Given the description of an element on the screen output the (x, y) to click on. 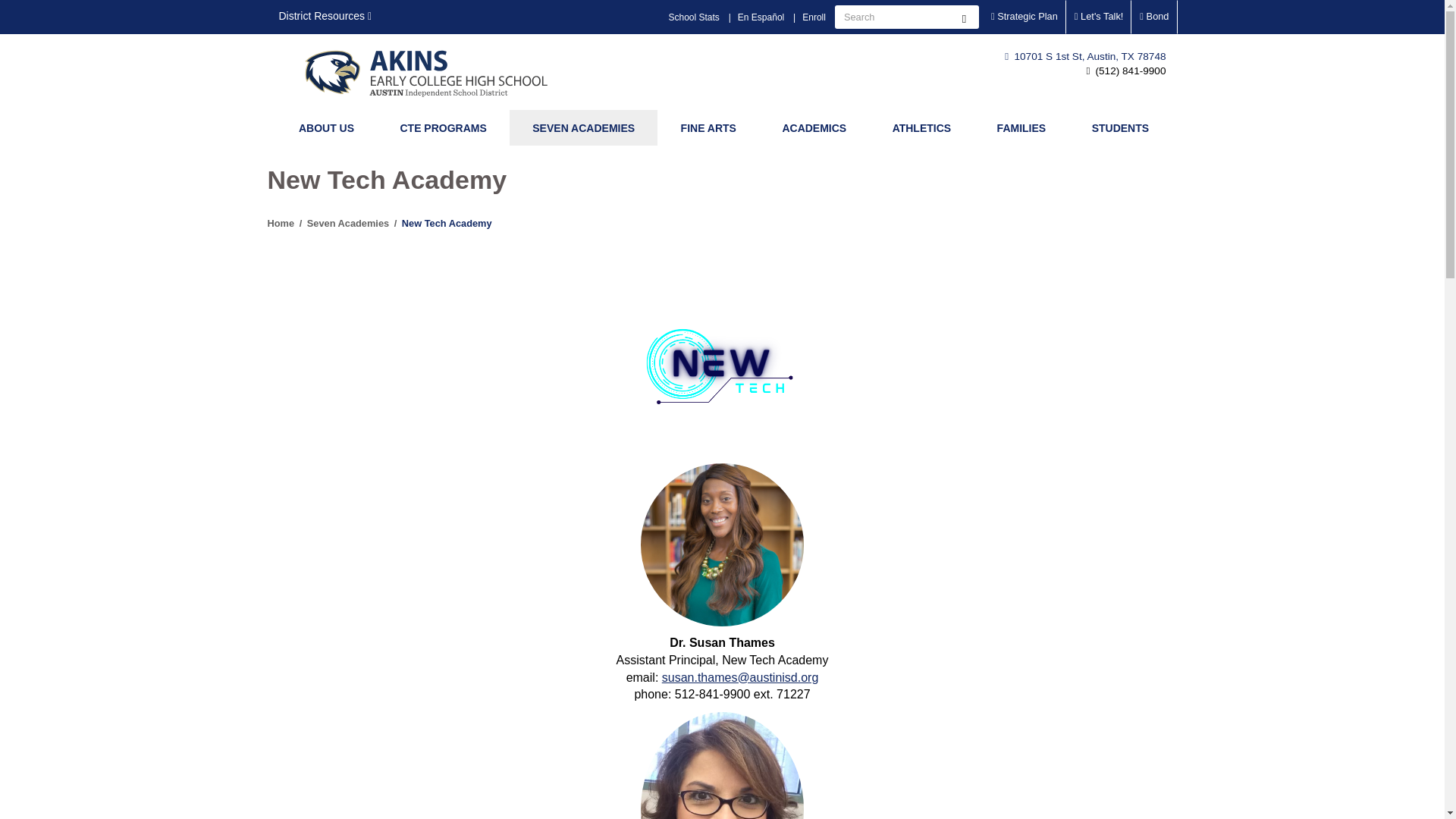
District Resources (324, 17)
Home (437, 72)
Akins Early College High School (437, 72)
Enroll (813, 17)
  10701 S 1st St, Austin, TX 78748 (1085, 56)
ABOUT US (326, 127)
School Stats (693, 17)
CTE PROGRAMS (442, 127)
Search (963, 16)
